Given the description of an element on the screen output the (x, y) to click on. 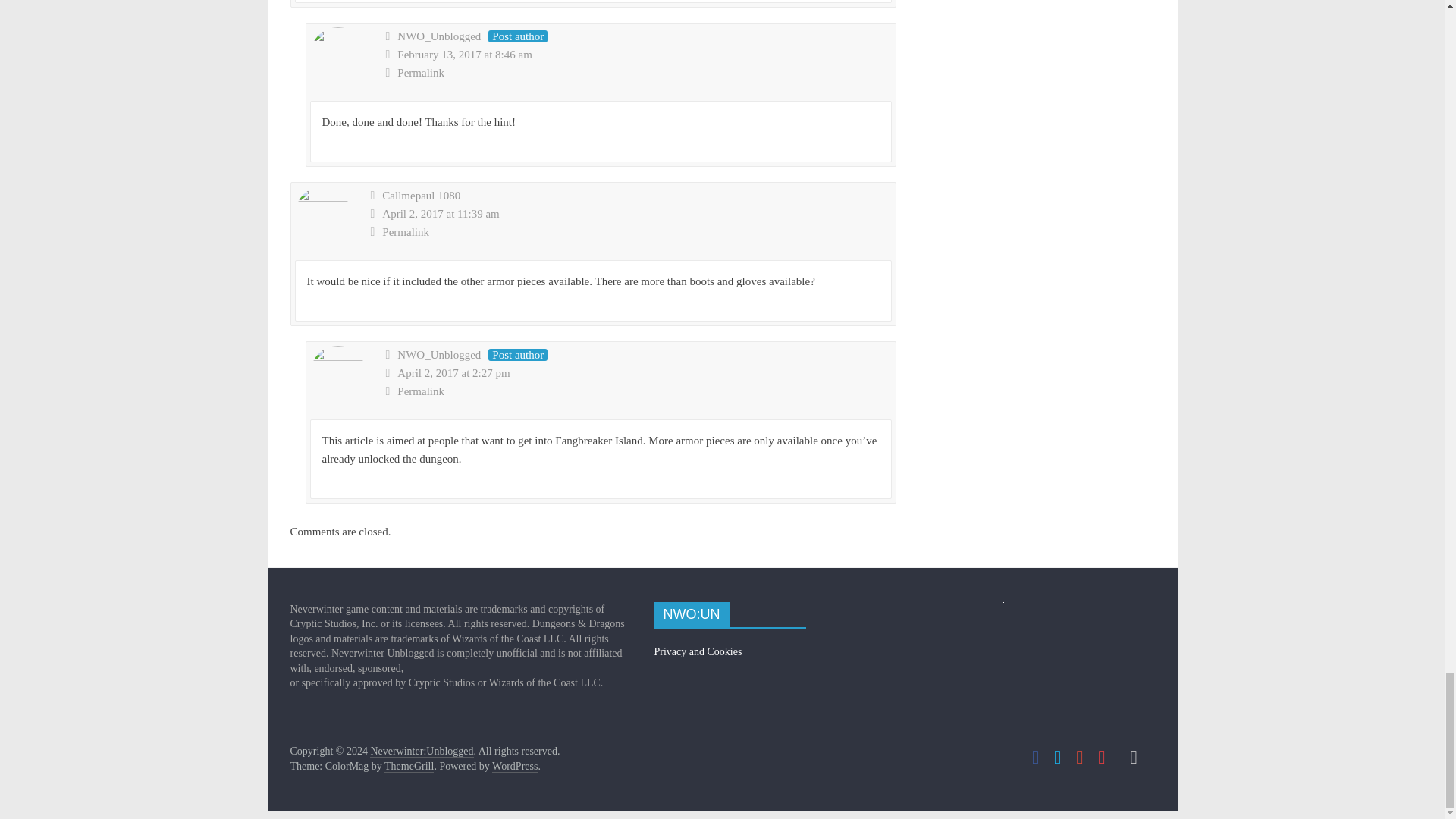
Neverwinter:Unblogged (421, 751)
WordPress (514, 766)
ThemeGrill (408, 766)
